Given the description of an element on the screen output the (x, y) to click on. 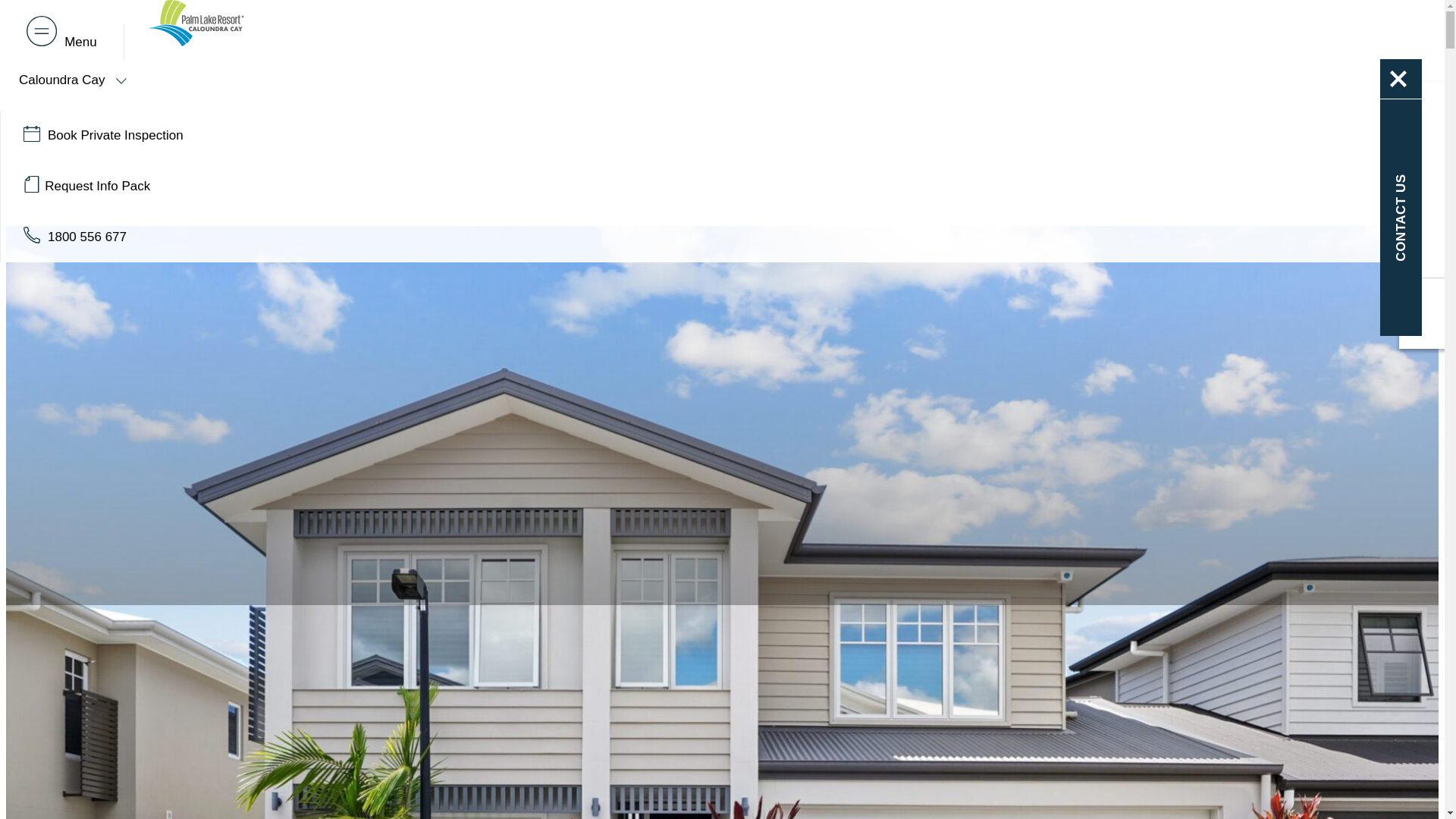
Book Private Inspection (606, 135)
Palm Lake Resort (199, 38)
